Given the description of an element on the screen output the (x, y) to click on. 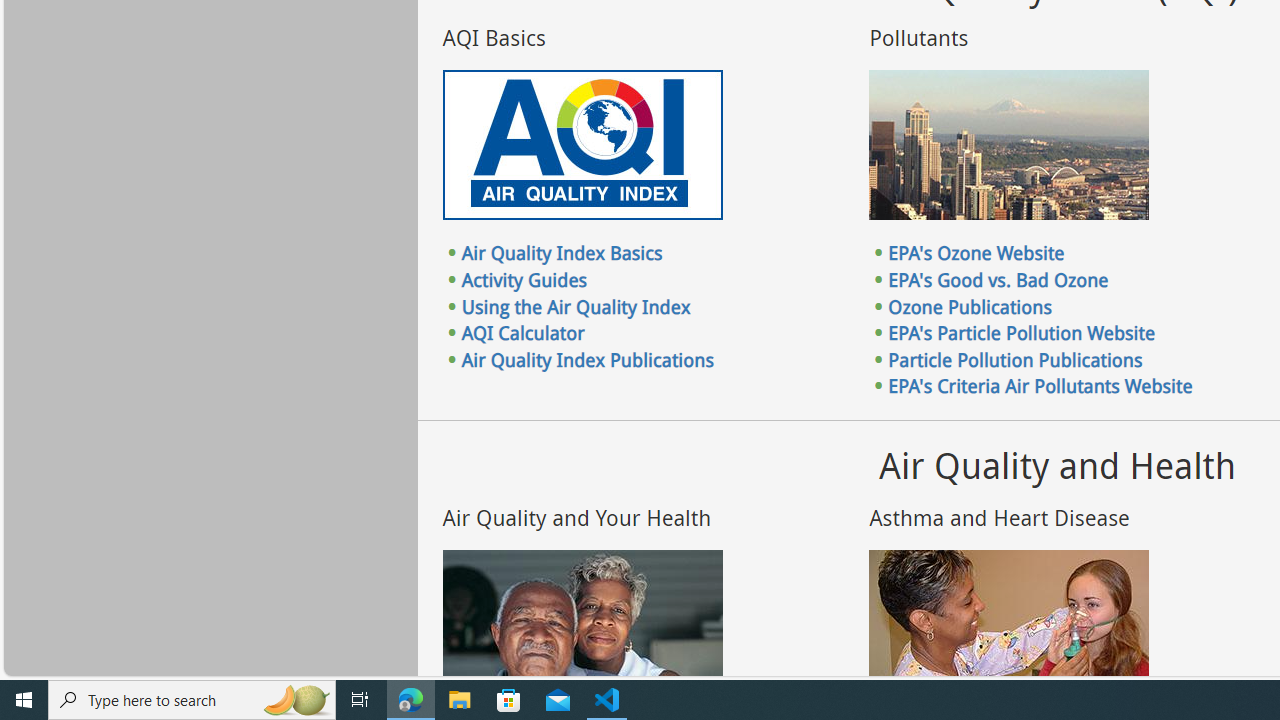
Air Quality and Your Health (582, 623)
Air Quality Index Basics (561, 253)
EPA's Ozone Website (976, 253)
Pollutants (1009, 145)
EPA's Particle Pollution Website (1021, 333)
EPA's Good vs. Bad Ozone (998, 279)
Asthma and Heart Disease (1009, 623)
Activity Guides (523, 279)
Air Quality Index Publications (587, 359)
